Given the description of an element on the screen output the (x, y) to click on. 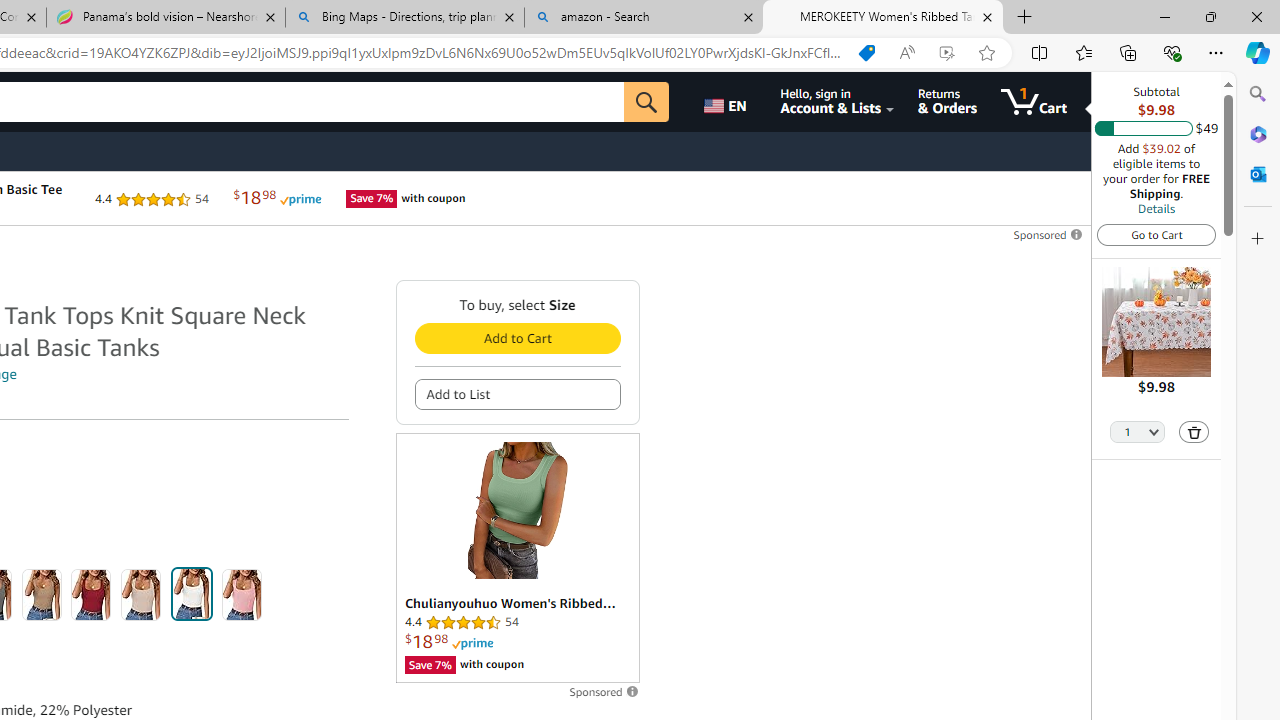
Enhance video (946, 53)
Details (1156, 208)
Sand (141, 594)
White (191, 593)
Pink (242, 594)
Go to Cart (1156, 234)
Quantity Selector (1137, 433)
Khaki (41, 594)
